Given the description of an element on the screen output the (x, y) to click on. 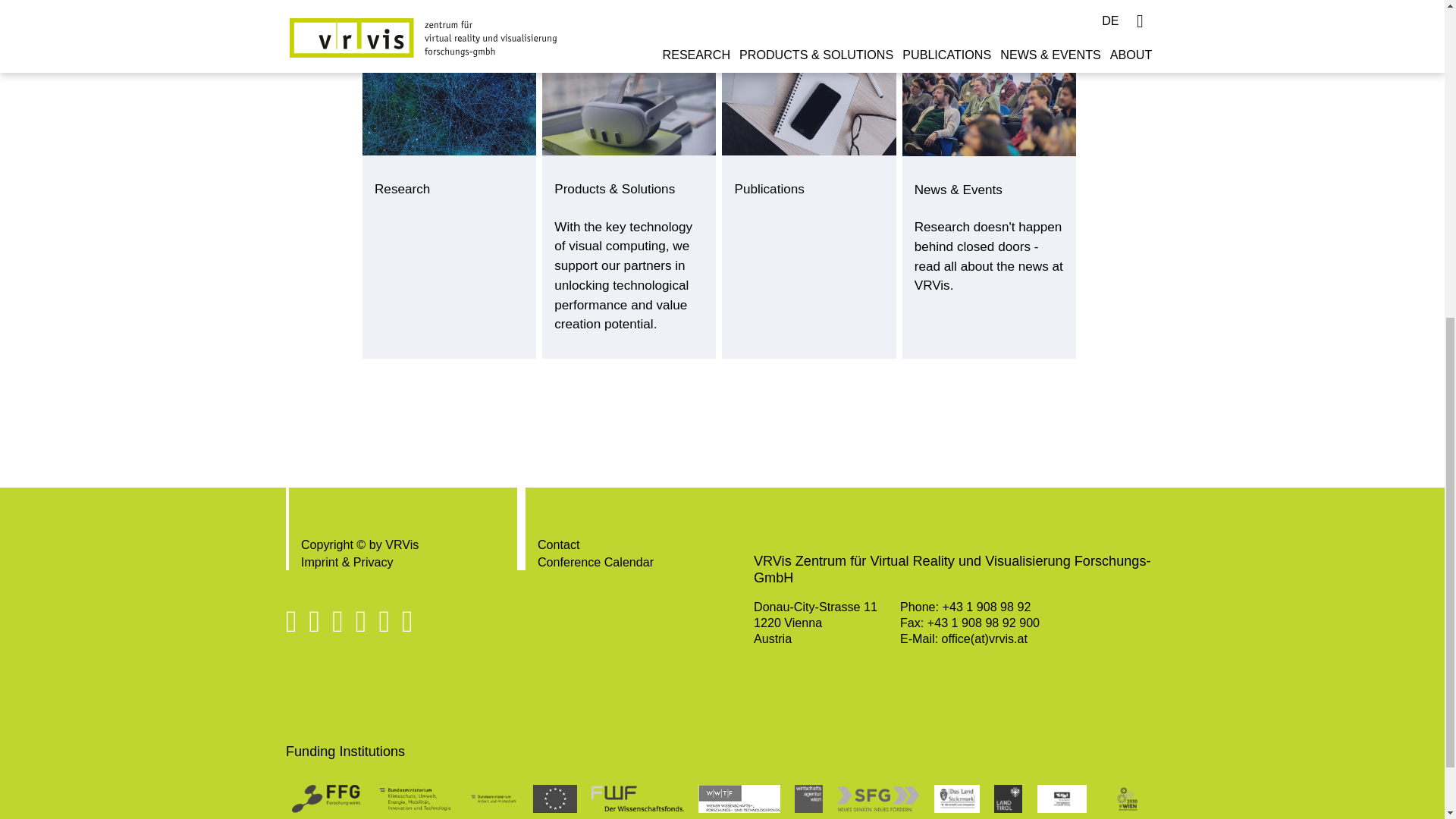
Quest VR (628, 104)
VRVis Headerbild 2 (808, 104)
Visual Computing Trends 2023 (988, 104)
